Given the description of an element on the screen output the (x, y) to click on. 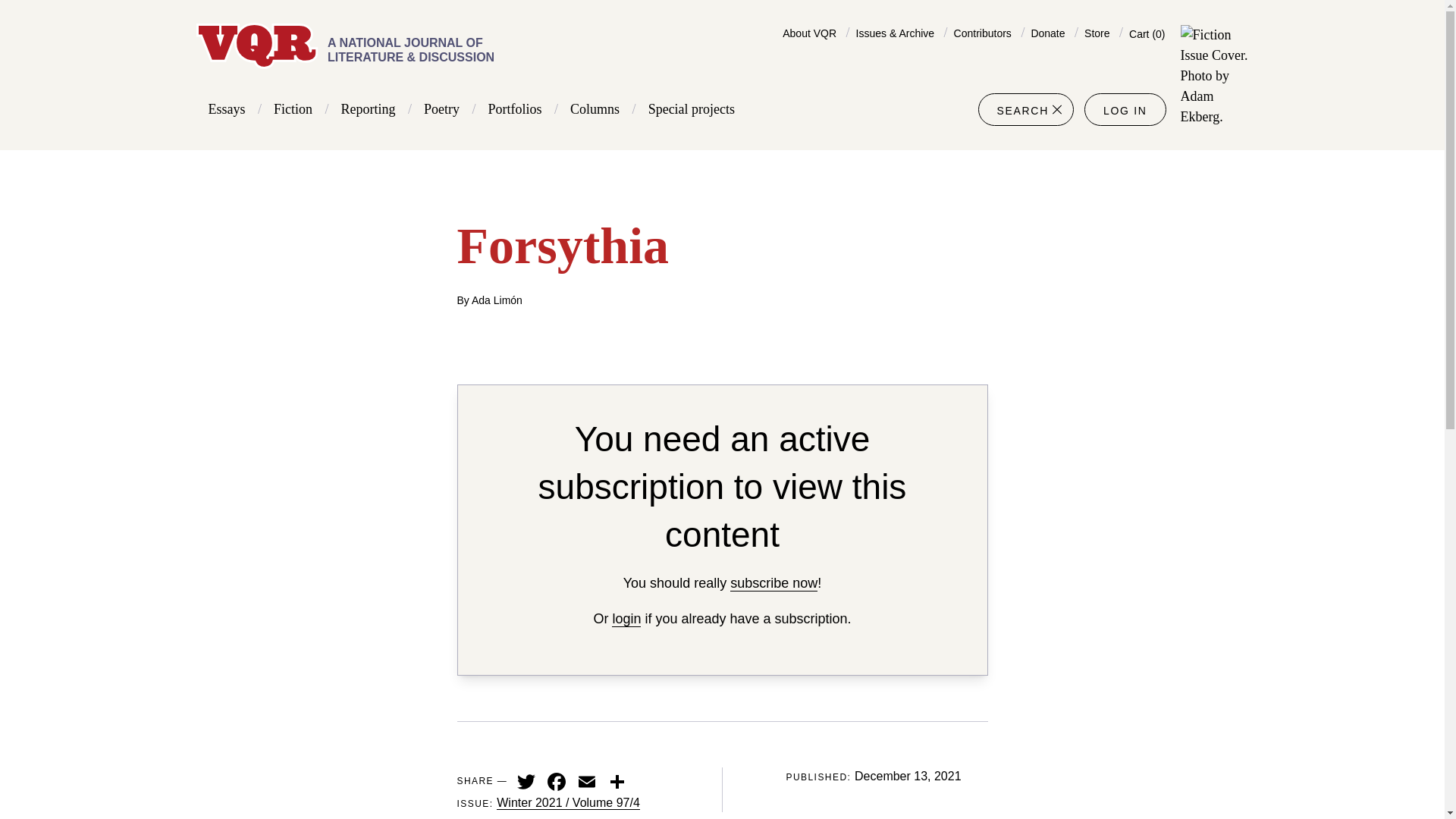
Donate (1047, 33)
Poetry (441, 109)
Email (587, 780)
Facebook (556, 780)
Contributors (982, 33)
Fiction (293, 109)
subscribe now (773, 583)
SEARCH (1025, 109)
Reporting (368, 109)
